Given the description of an element on the screen output the (x, y) to click on. 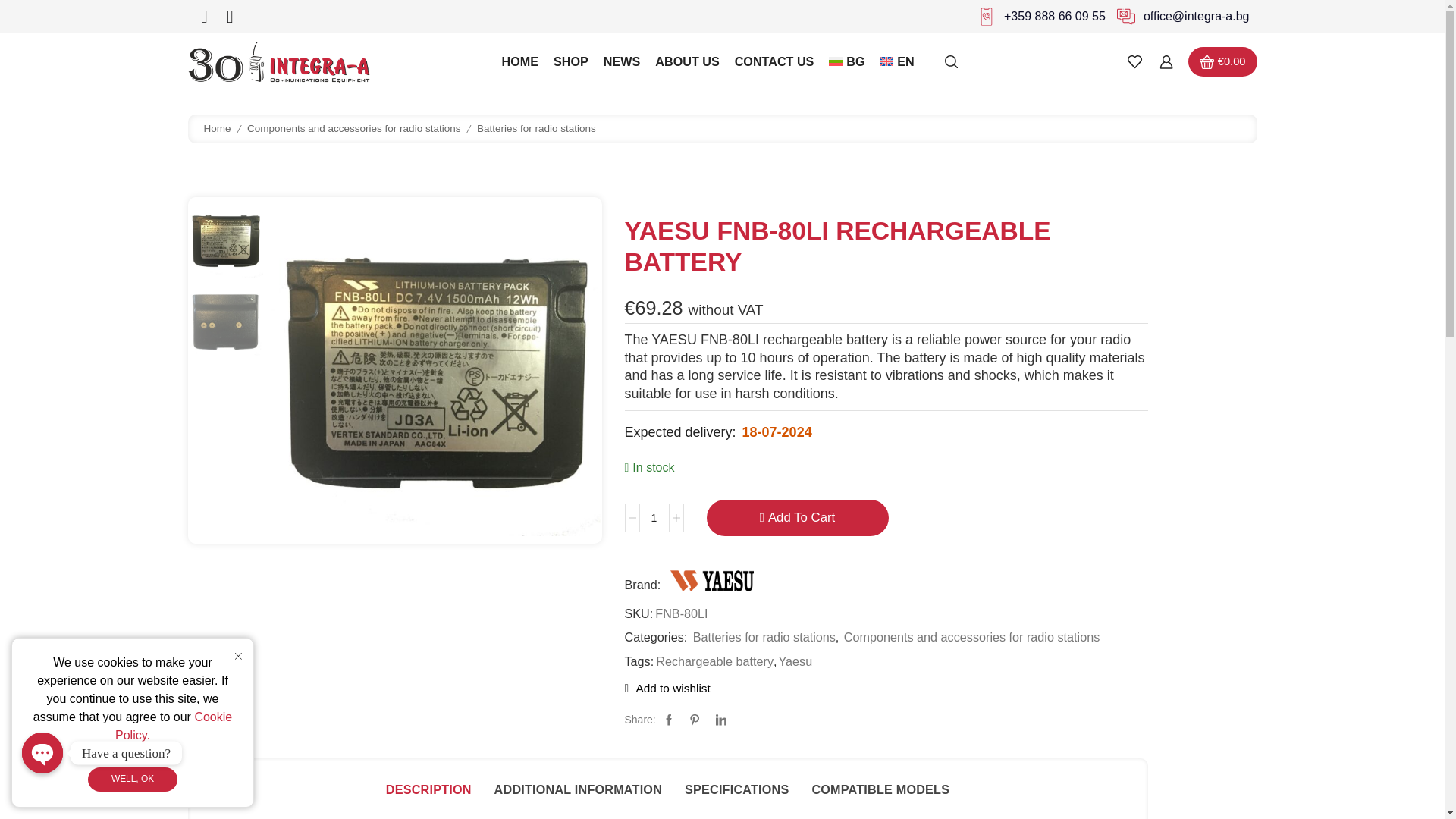
EN (896, 61)
HOME (520, 61)
integra-a-yaesu-fnb-80li-1.jpg (224, 240)
1 (654, 517)
integra-a-yaesu-fnb-80li-2.jpg (224, 323)
BG (846, 61)
ABOUT US (686, 61)
integra-a-yaesu-fnb-80li-1.jpg (436, 370)
SHOP (570, 61)
NEWS (621, 61)
CONTACT US (774, 61)
EN (896, 61)
BG (846, 61)
